Given the description of an element on the screen output the (x, y) to click on. 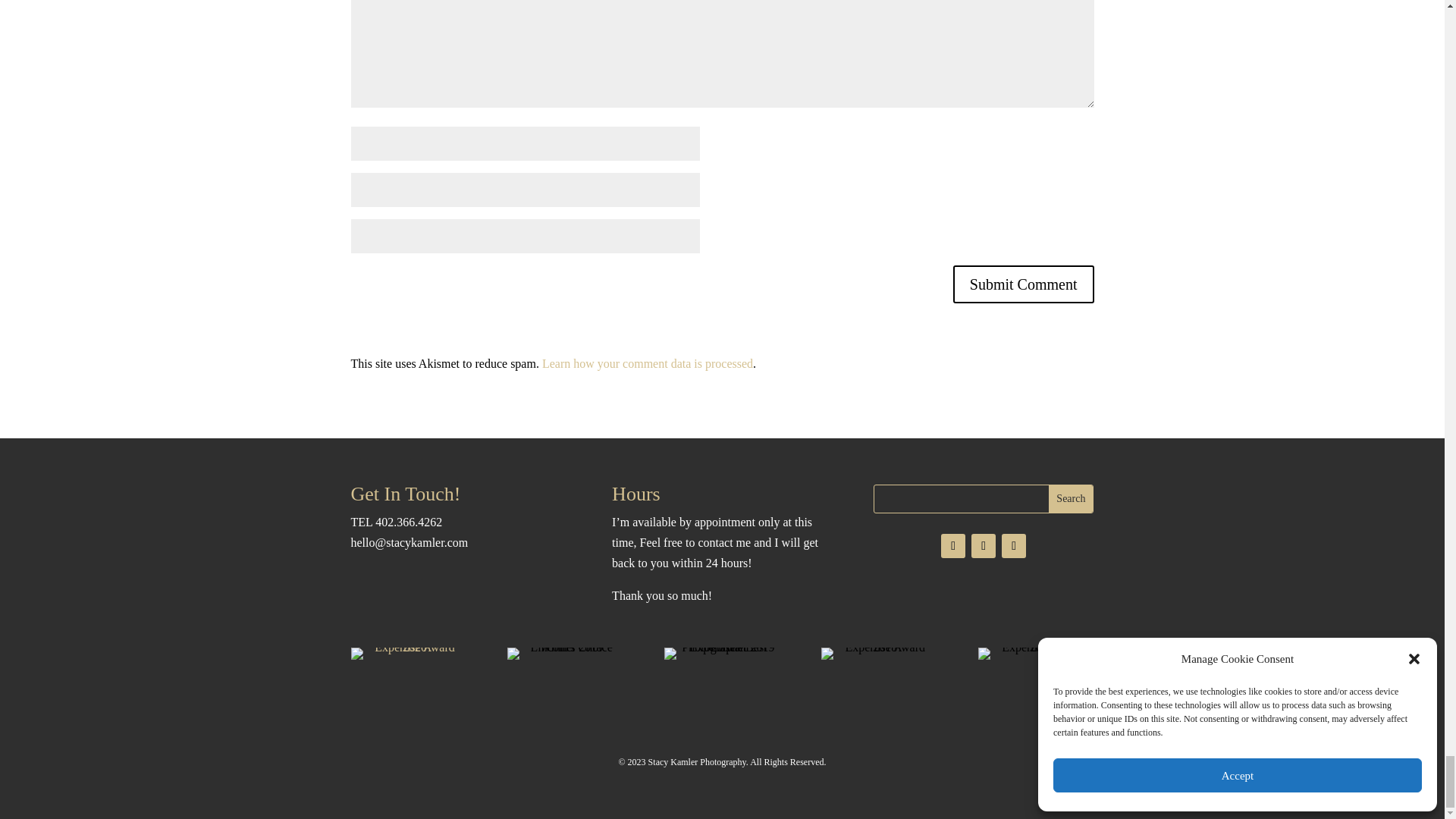
Lincoln's Choice Winner 2019 (564, 653)
Expertise Award 2016 (1036, 653)
Search (1070, 498)
Follow on Instagram (952, 545)
Expertise Award 2018 (879, 653)
Follow on Facebook (1013, 545)
Follow on Pinterest (983, 545)
Expertise Award 2020 (407, 653)
Expertise - Best Portrait Photographer 2019 (721, 653)
Submit Comment (1023, 284)
Search (1070, 498)
